Given the description of an element on the screen output the (x, y) to click on. 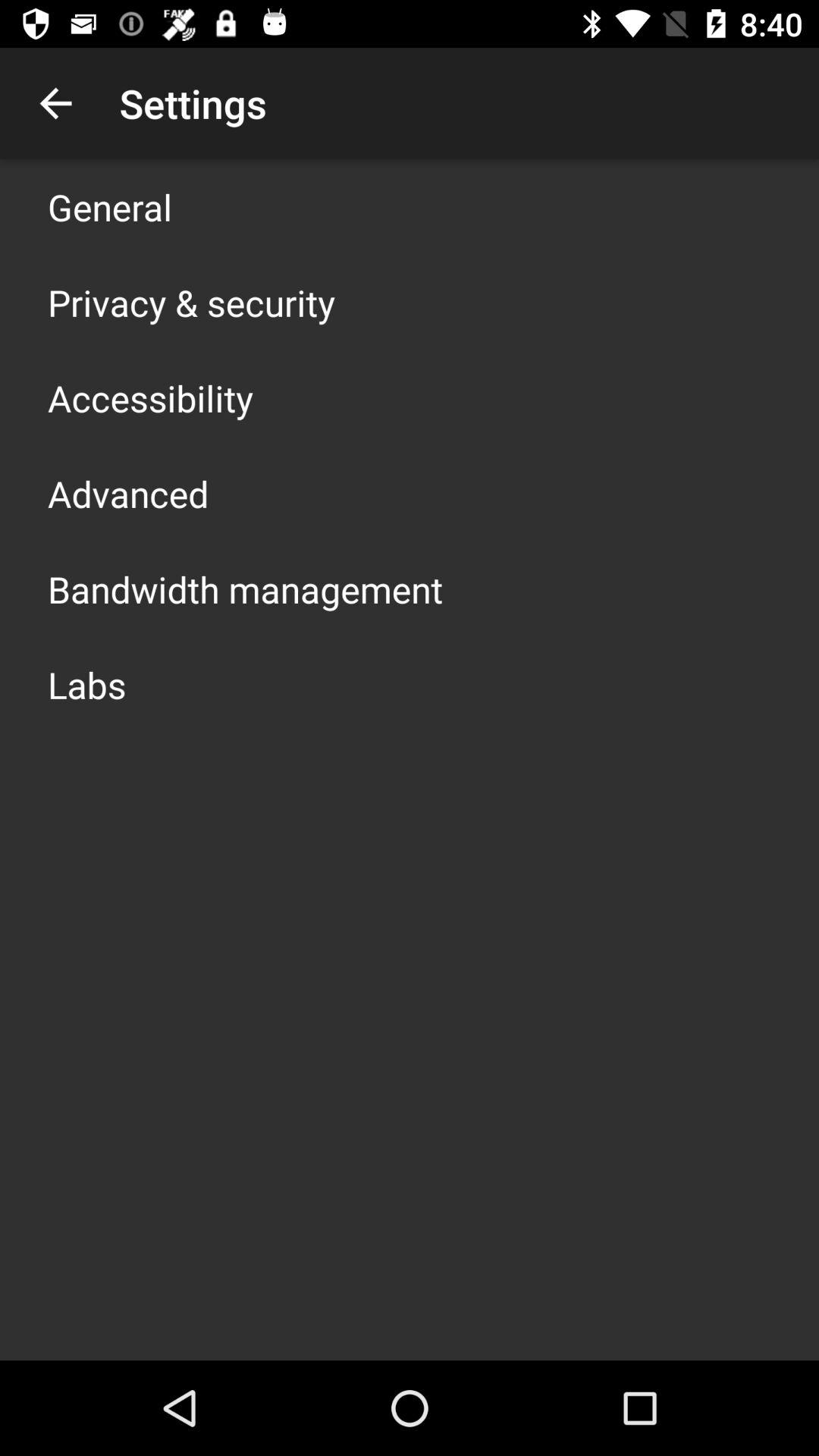
turn off icon to the left of settings item (55, 103)
